Given the description of an element on the screen output the (x, y) to click on. 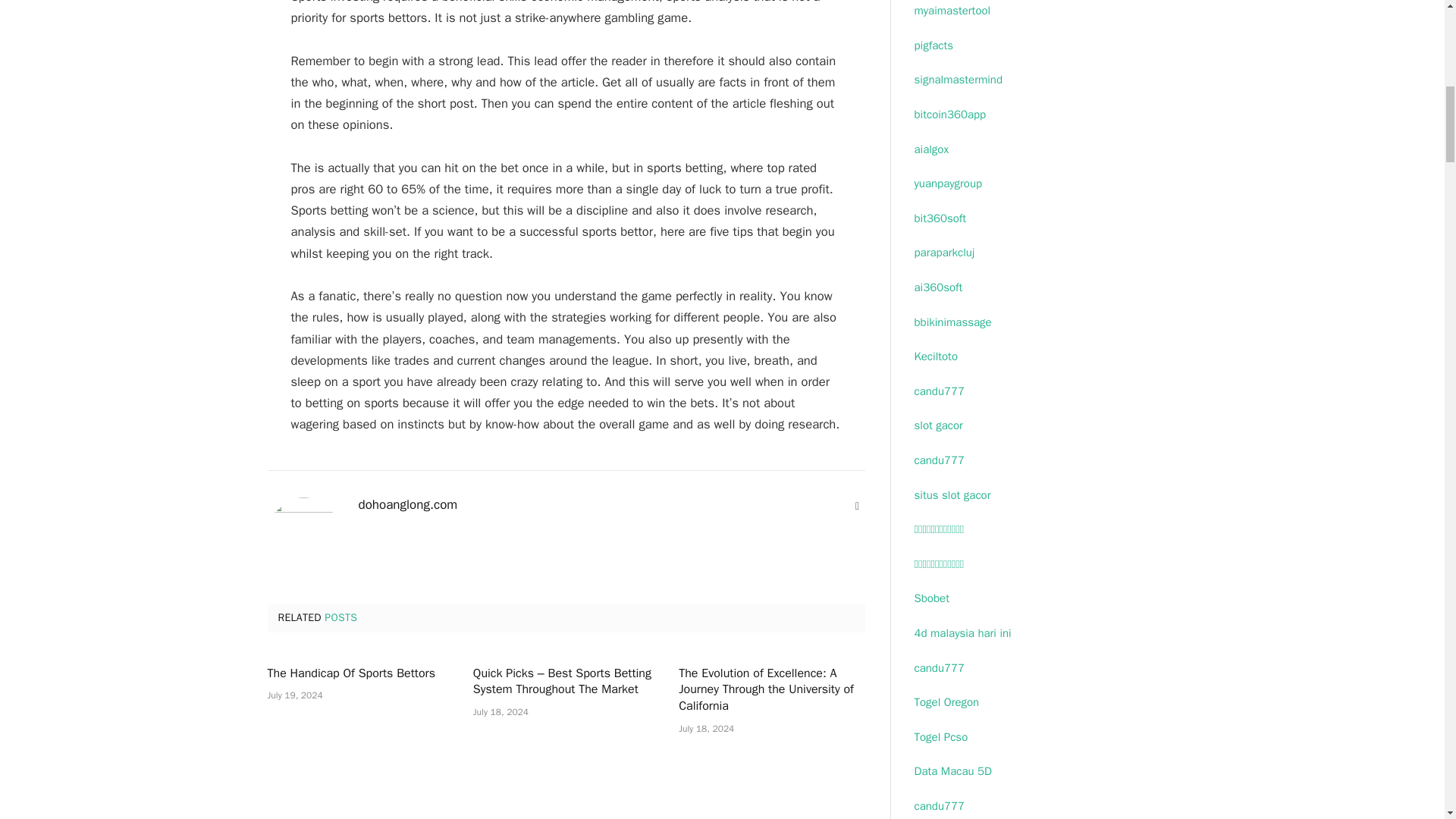
Website (856, 506)
The Handicap Of Sports Bettors (359, 673)
dohoanglong.com (407, 504)
Posts by dohoanglong.com (407, 504)
Website (856, 506)
